Given the description of an element on the screen output the (x, y) to click on. 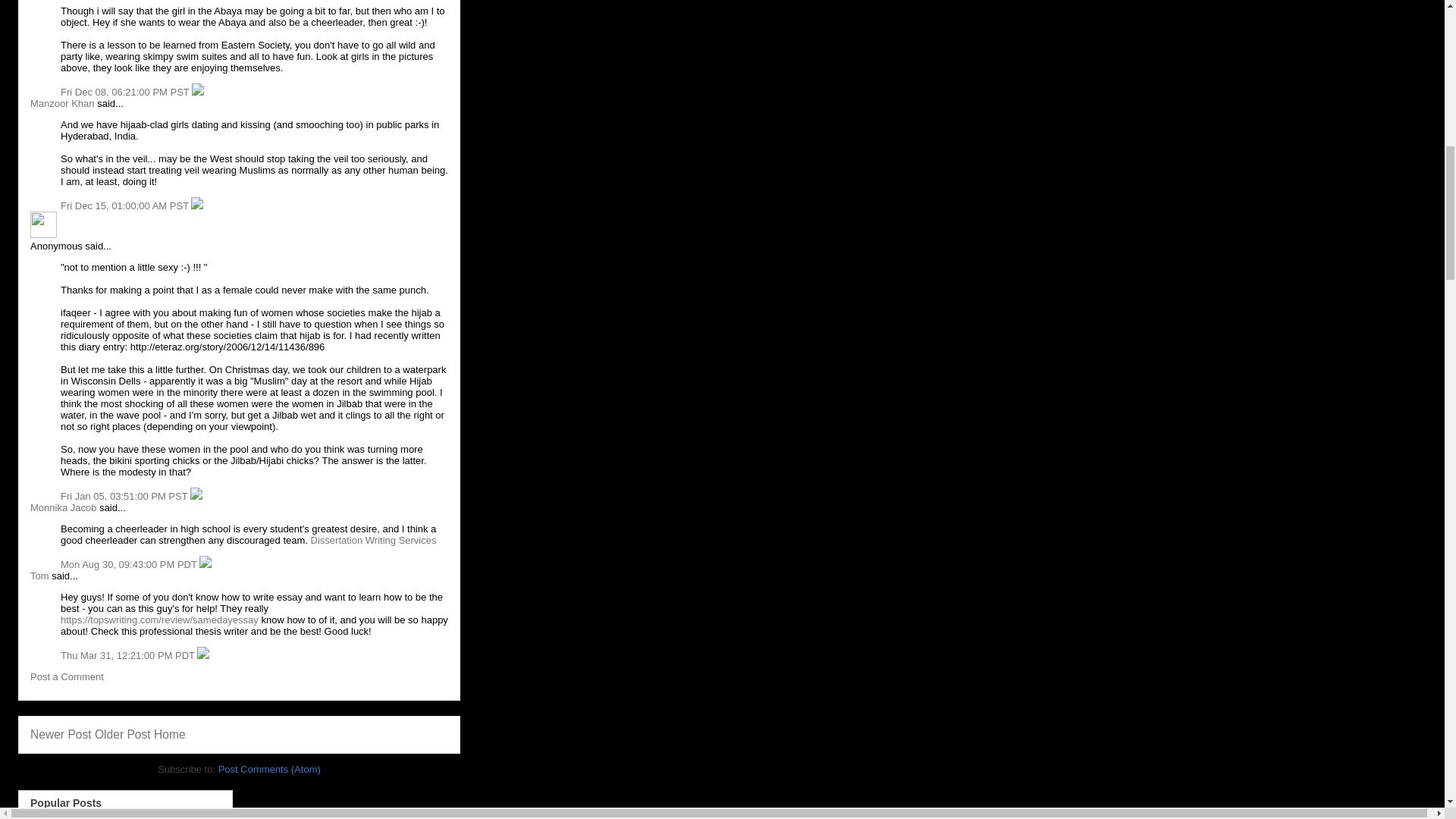
Delete Comment (196, 205)
Dissertation Writing Services (373, 540)
Fri Dec 08, 06:21:00 PM PST (126, 91)
Fri Jan 05, 03:51:00 PM PST (125, 496)
Manzoor Khan (62, 102)
Mon Aug 30, 09:43:00 PM PDT (130, 564)
Monnika Jacob (63, 507)
Fri Dec 15, 01:00:00 AM PST (125, 205)
comment permalink (126, 91)
comment permalink (125, 205)
Delete Comment (197, 91)
